Given the description of an element on the screen output the (x, y) to click on. 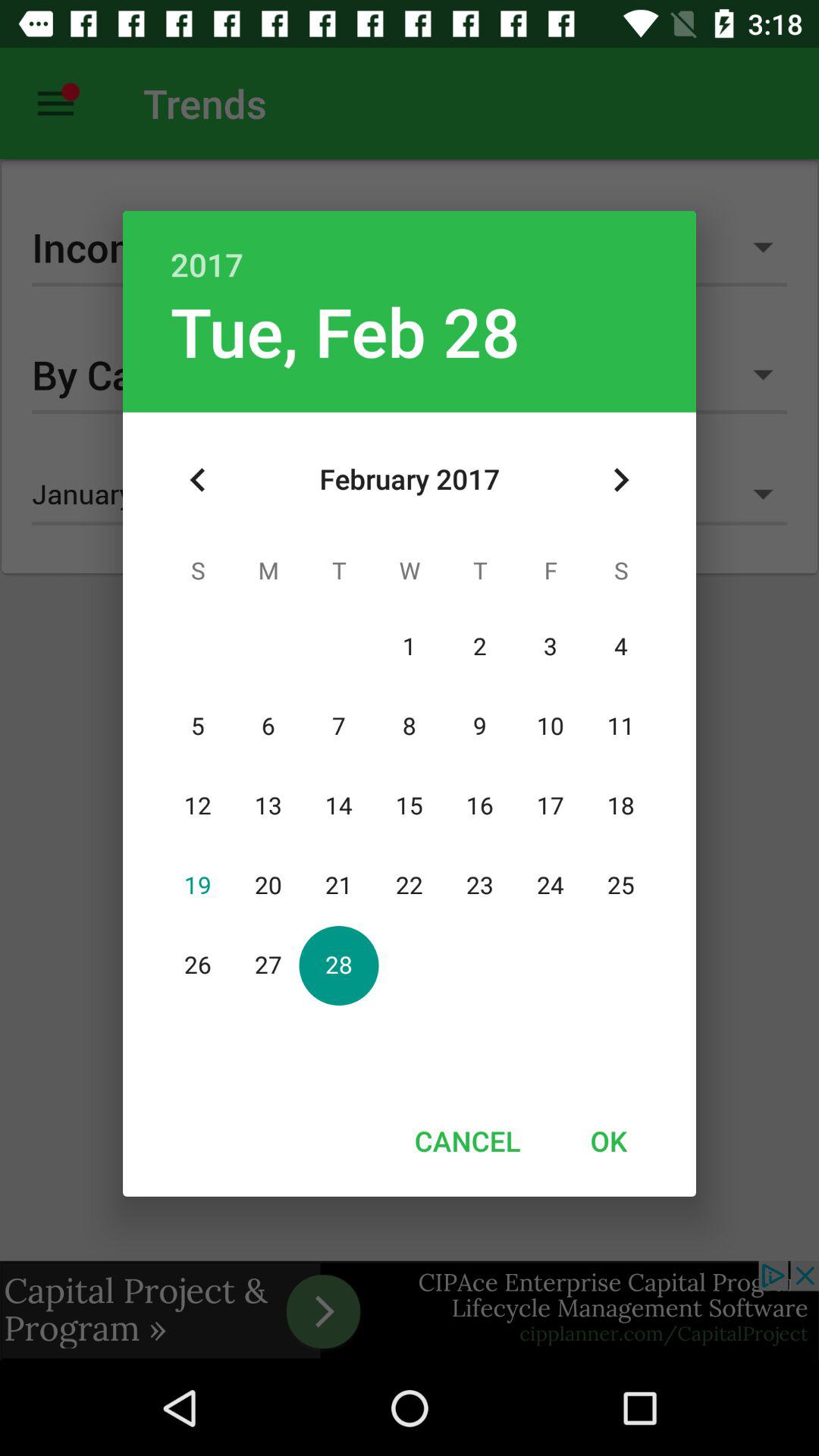
click the icon to the right of the cancel (608, 1140)
